Given the description of an element on the screen output the (x, y) to click on. 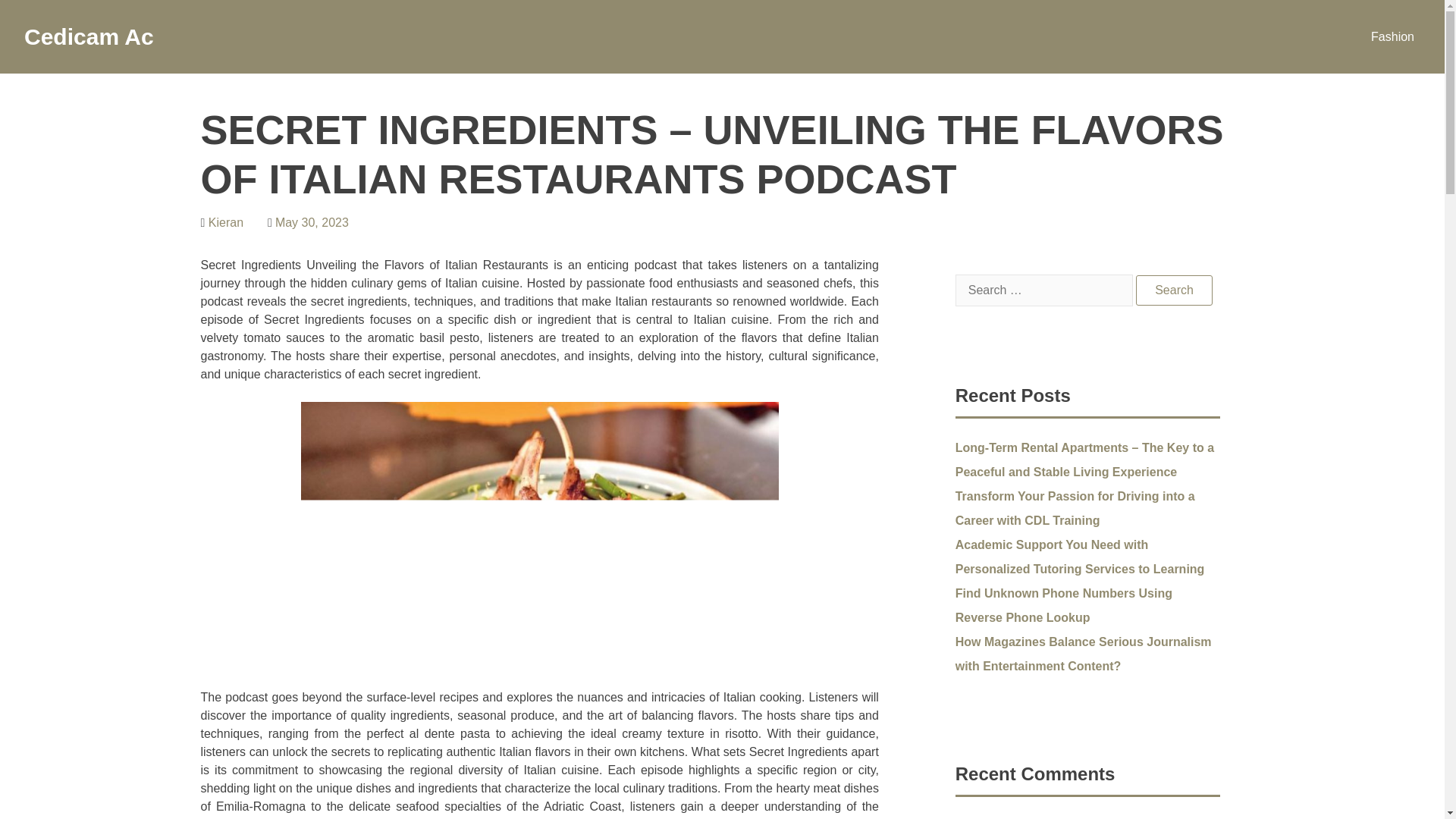
May 30, 2023 (312, 222)
Search (1173, 290)
Kieran (225, 222)
Search (1173, 290)
Find Unknown Phone Numbers Using Reverse Phone Lookup (1063, 605)
Search (1173, 290)
Fashion (1393, 36)
